Given the description of an element on the screen output the (x, y) to click on. 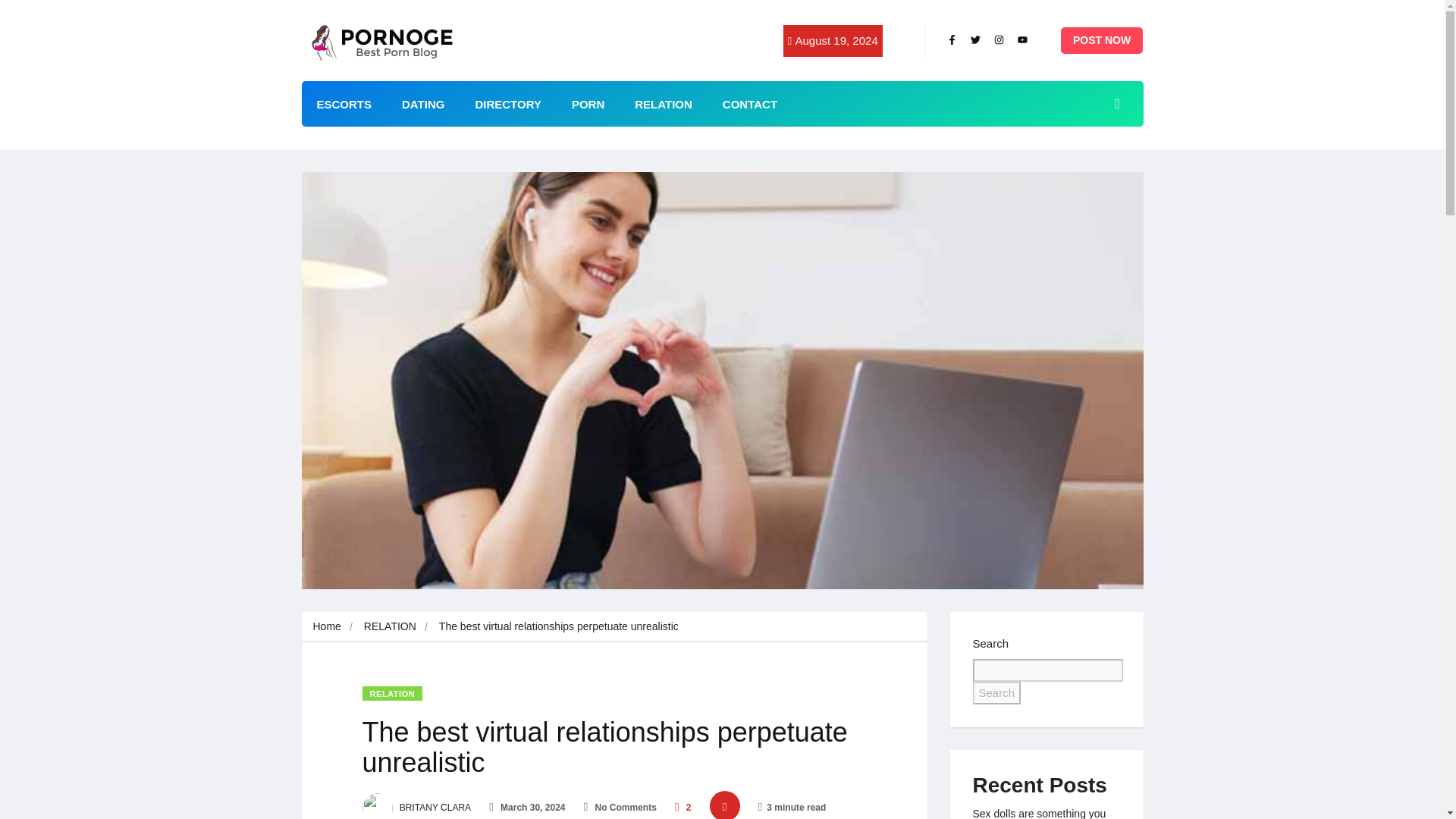
BRITANY CLARA (416, 807)
PORN (588, 103)
DATING (423, 103)
Home (326, 625)
RELATION (390, 625)
DIRECTORY (508, 103)
RELATION (392, 693)
CONTACT (749, 103)
POST NOW (1101, 40)
ESCORTS (344, 103)
